Given the description of an element on the screen output the (x, y) to click on. 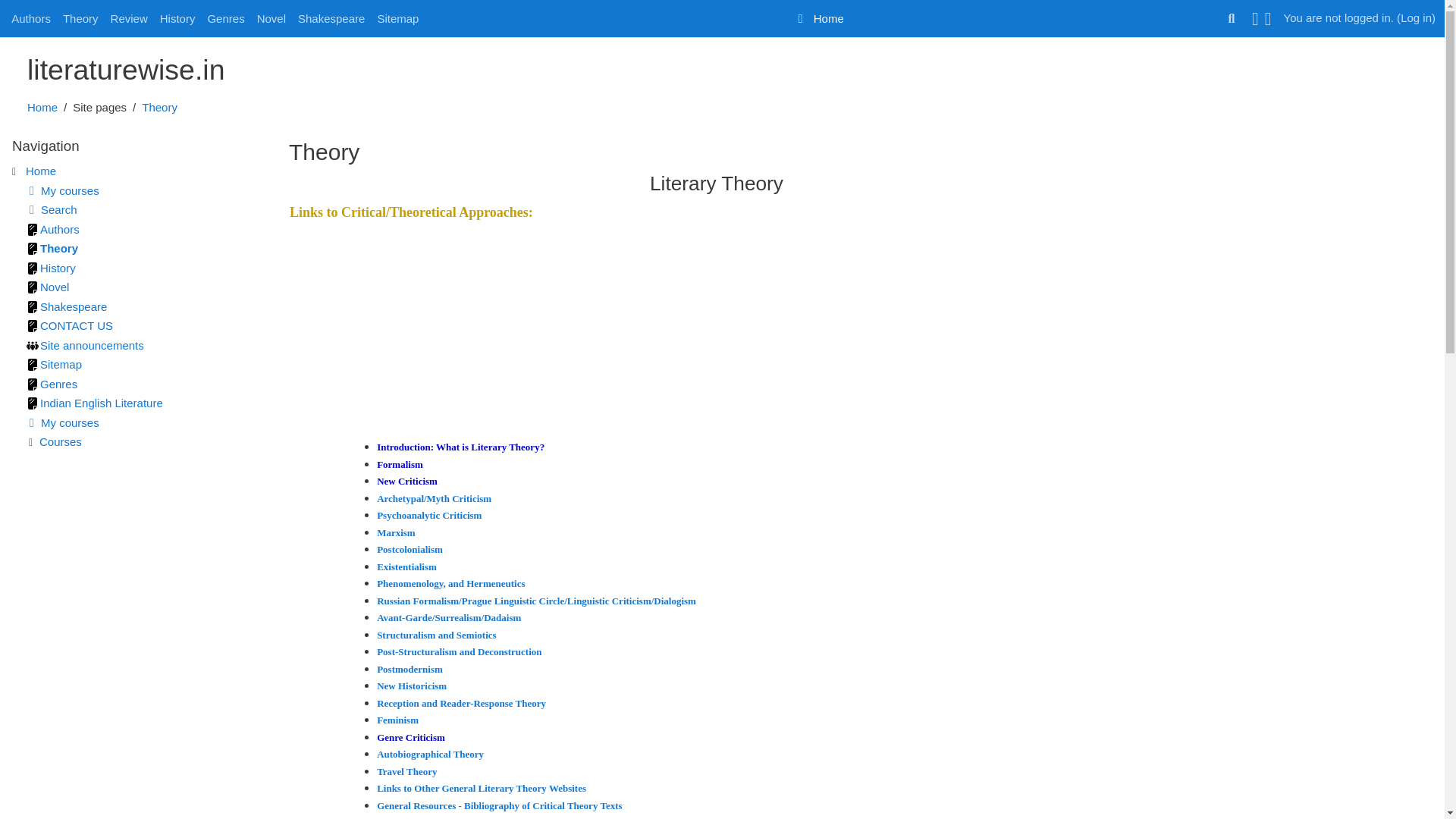
Theory (80, 18)
New Historicism (411, 685)
Structuralism and Semiotics (436, 634)
Genre Criticism (411, 736)
Review (129, 18)
Phenomenology, and Hermeneutics (450, 583)
Introduction: What is Literary Theory? (460, 446)
General Resources - Bibliography of Critical Theory Texts (499, 804)
Links to Other General Literary Theory Websites (481, 787)
Novel (271, 18)
